Given the description of an element on the screen output the (x, y) to click on. 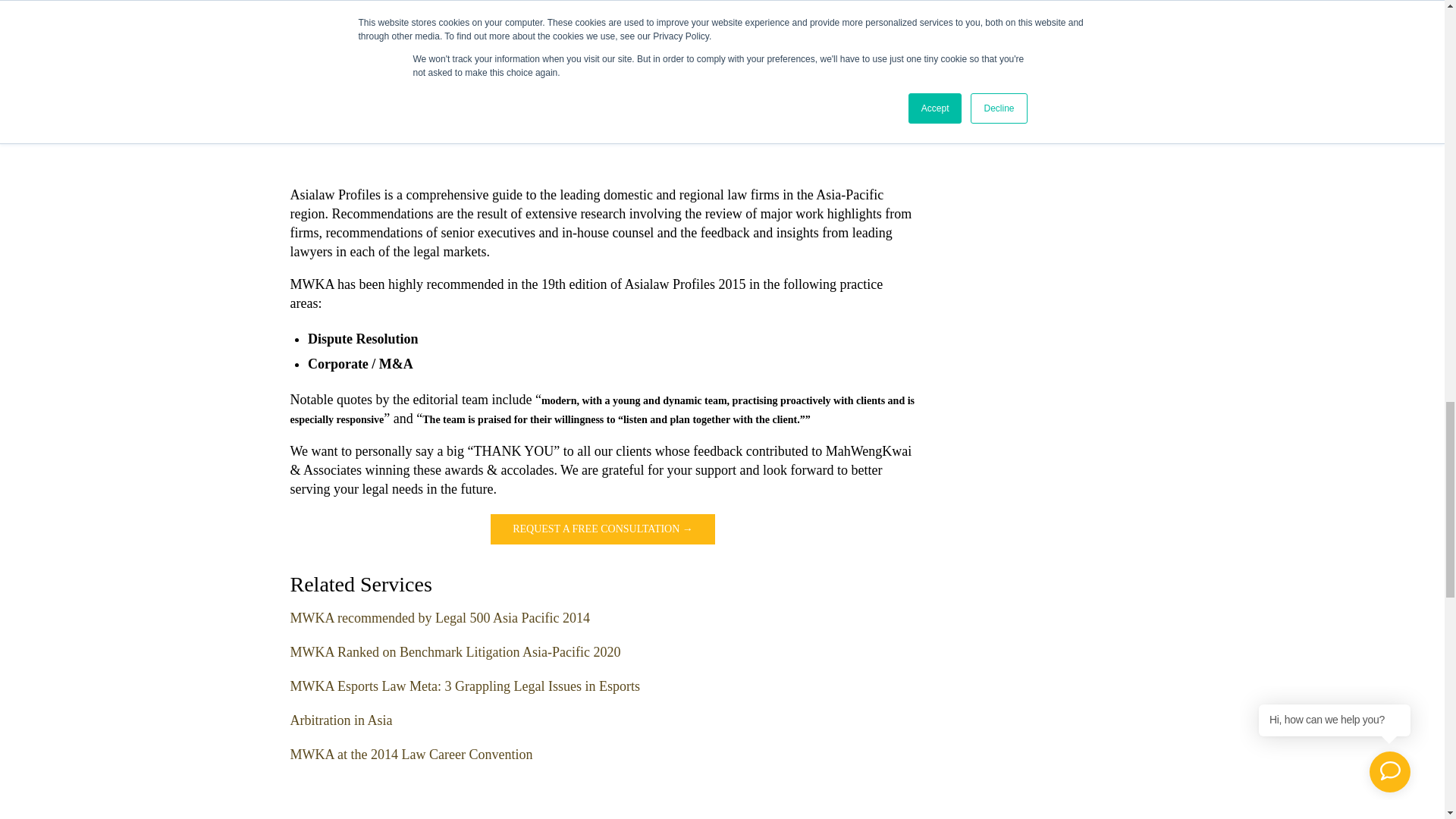
Arbitration in Asia (340, 720)
MWKA Ranked on Benchmark Litigation Asia-Pacific 2020 (454, 652)
MWKA at the 2014 Law Career Convention (410, 754)
MWKA Esports Law Meta: 3 Grappling Legal Issues in Esports (464, 685)
MWKA recommended by Legal 500 Asia Pacific 2014 (439, 617)
